Given the description of an element on the screen output the (x, y) to click on. 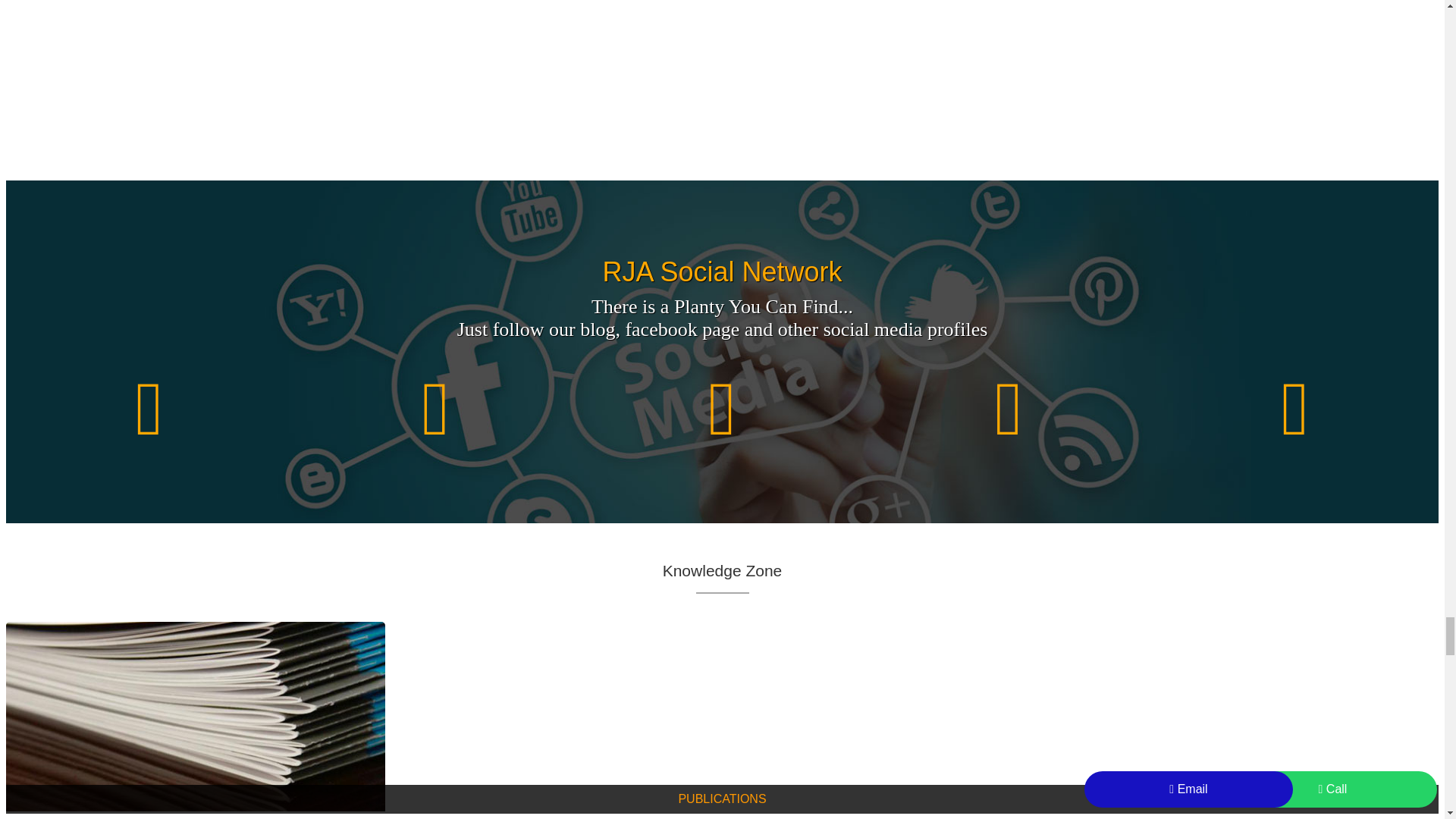
Linkedin (721, 409)
Twitter (435, 409)
Facebook (148, 409)
Wordpress (1294, 409)
Facebook (149, 409)
Youtube (1008, 409)
Twitter (435, 409)
Linkedin (722, 409)
Youtube (1007, 409)
